Given the description of an element on the screen output the (x, y) to click on. 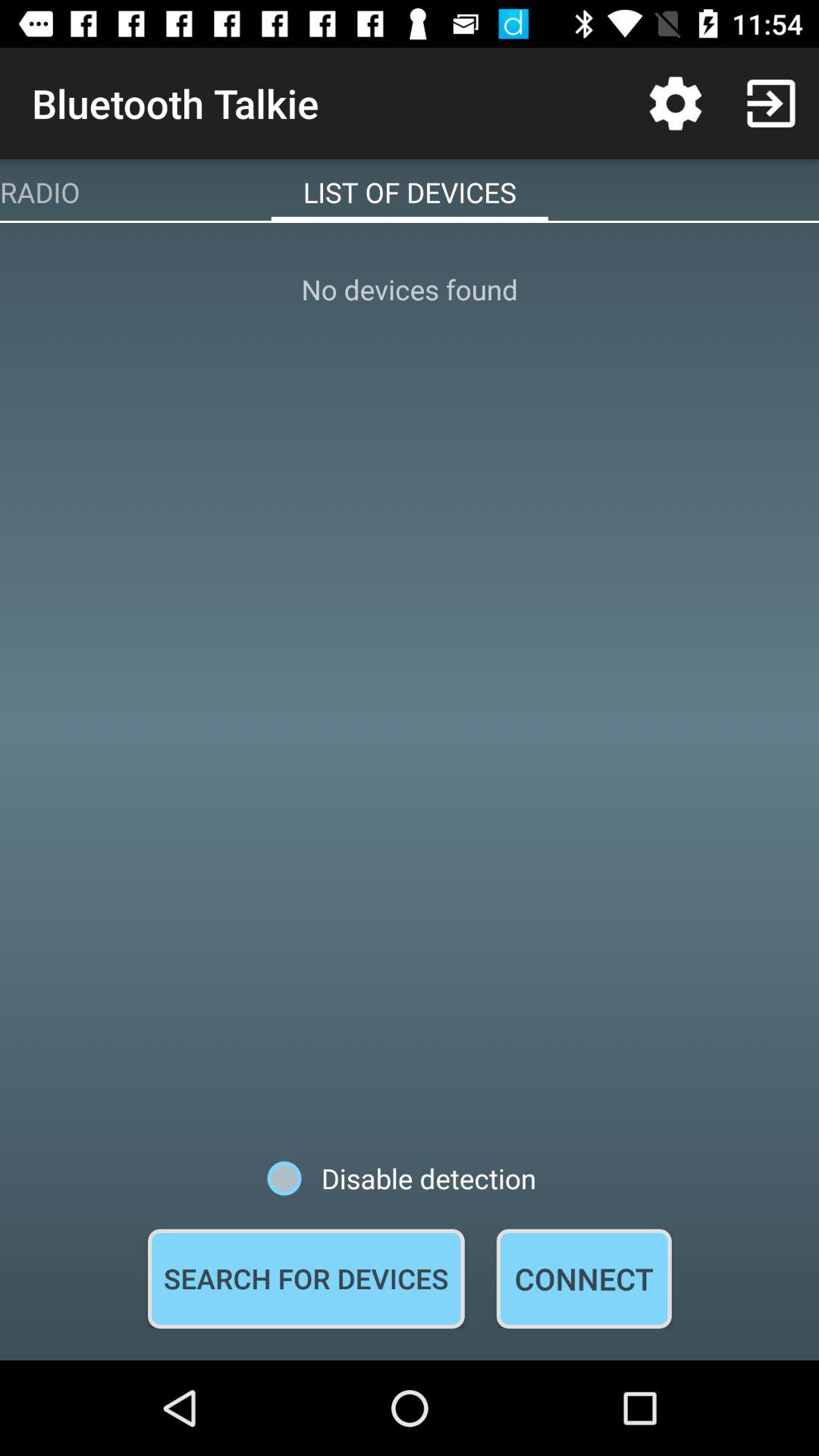
select icon at the center (409, 690)
